Given the description of an element on the screen output the (x, y) to click on. 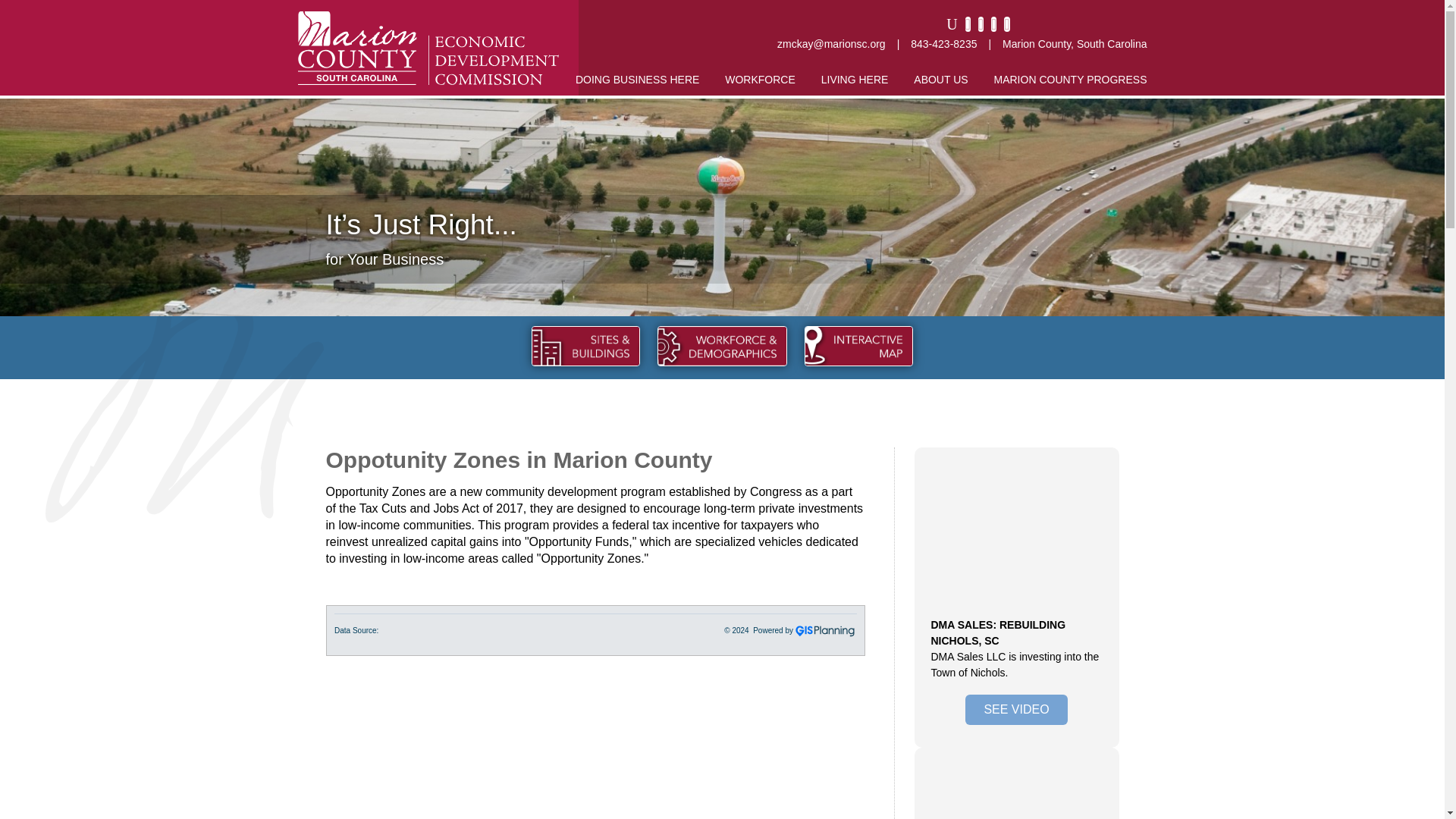
DOING BUSINESS HERE (637, 78)
843-423-8235 (943, 43)
ABOUT US (940, 78)
LIVING HERE (854, 78)
WORKFORCE (759, 78)
